Given the description of an element on the screen output the (x, y) to click on. 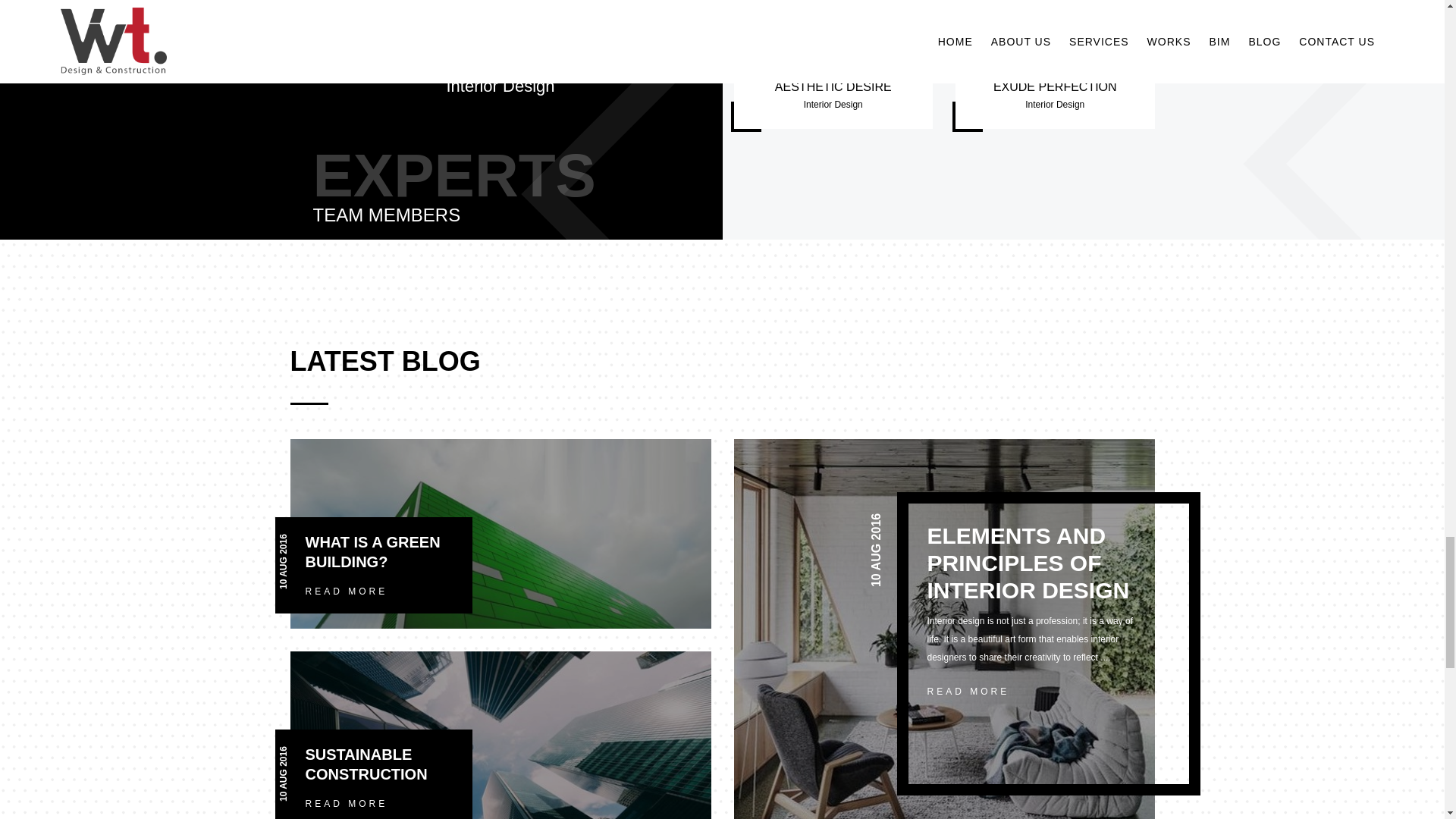
AESTHETIC ELEMENTS (500, 42)
EXUDE PERFECTION (1054, 86)
READ MORE (345, 591)
AESTHETIC DESIRE (832, 86)
